Given the description of an element on the screen output the (x, y) to click on. 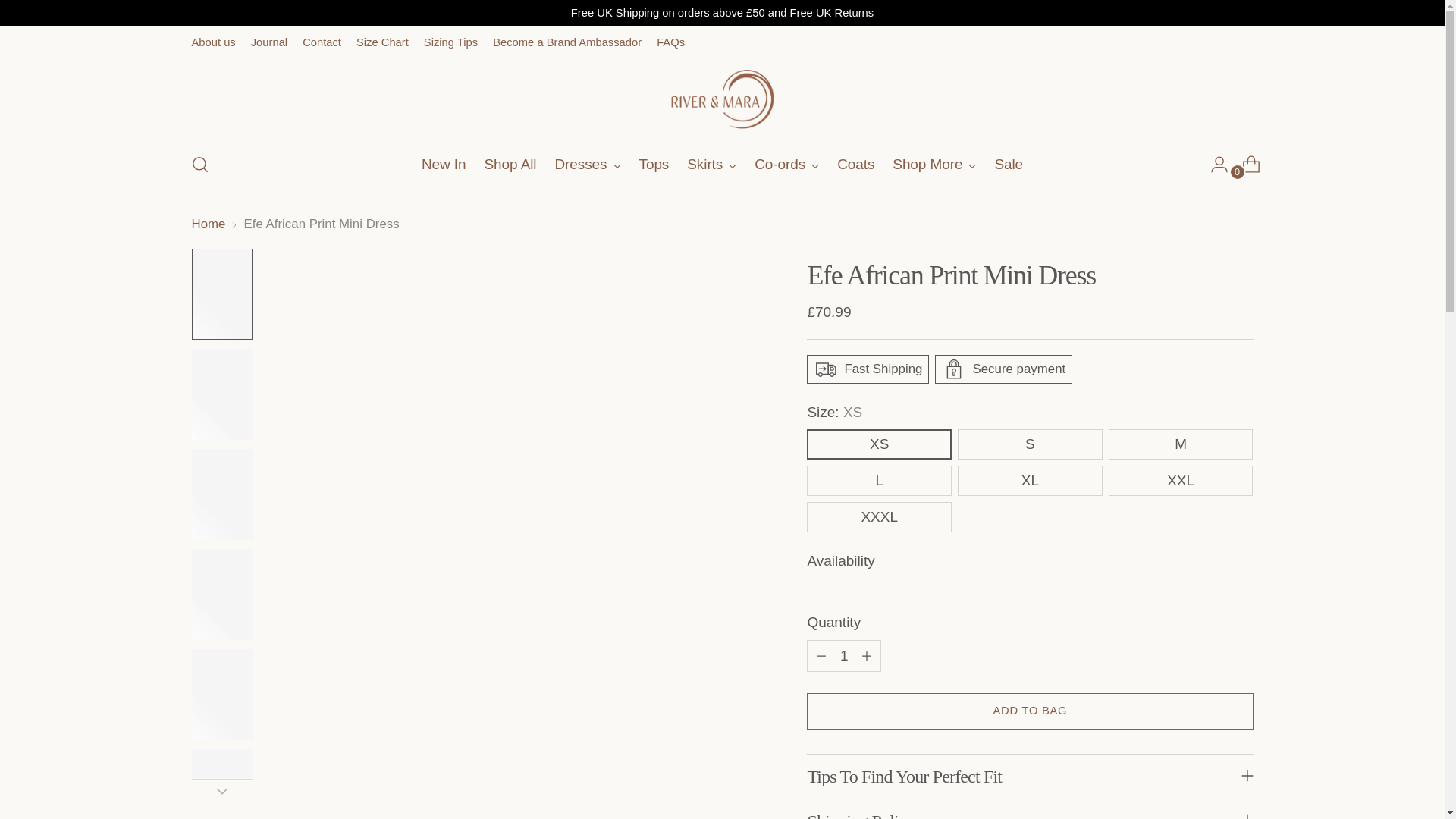
Size Chart (382, 41)
Co-ords (786, 164)
Dresses (587, 164)
About us (212, 41)
New In (443, 164)
Shop All (510, 164)
1 (843, 655)
Tops (654, 164)
Become a Brand Ambassador (567, 41)
Coats (856, 164)
Sizing Tips (450, 41)
Contact (321, 41)
Journal (268, 41)
Down (220, 790)
